Given the description of an element on the screen output the (x, y) to click on. 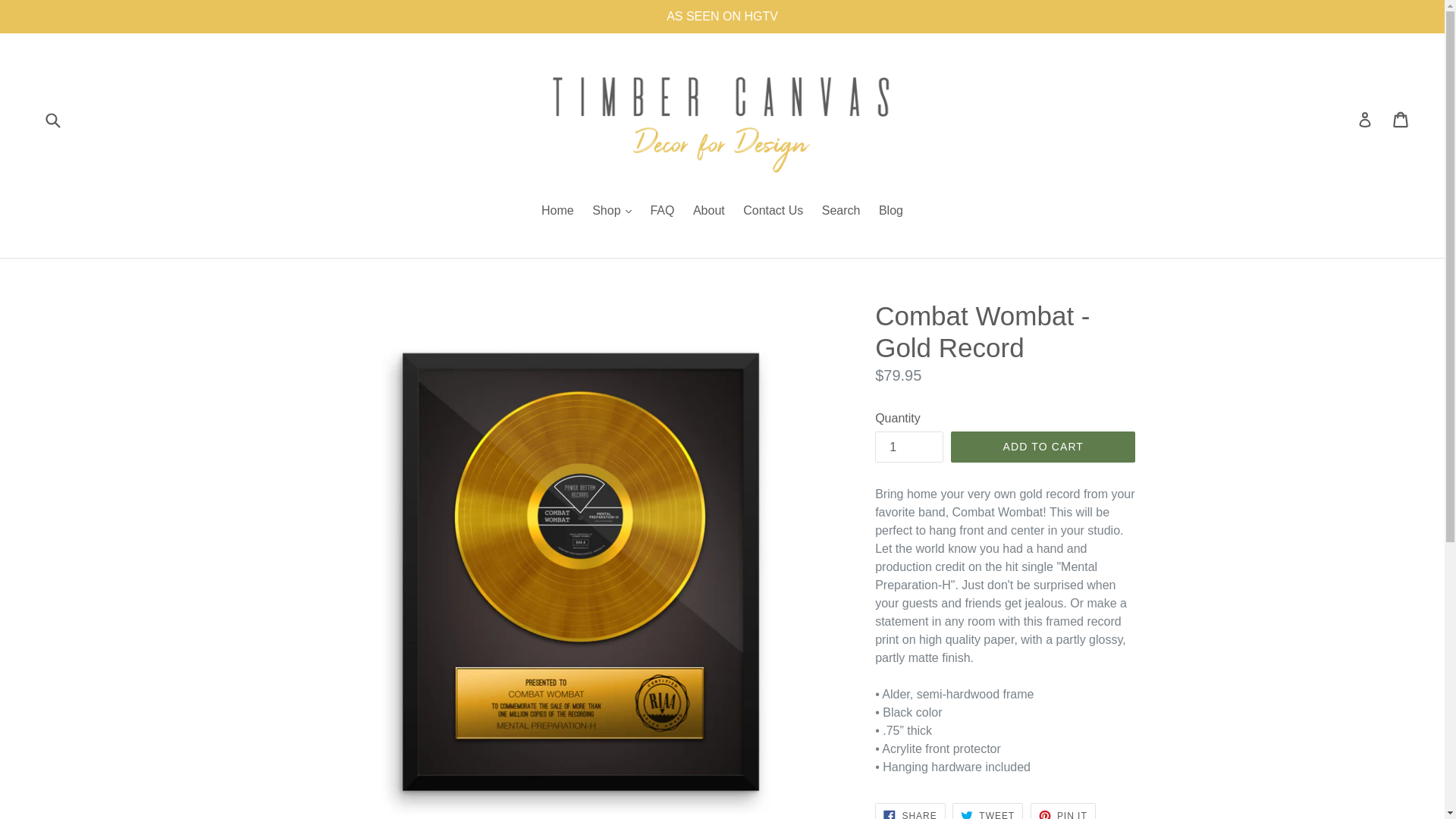
Contact Us (772, 211)
Home (557, 211)
Tweet on Twitter (987, 811)
Pin on Pinterest (1063, 811)
1 (909, 446)
Blog (987, 811)
About (890, 211)
Share on Facebook (708, 211)
FAQ (909, 811)
Search (909, 811)
ADD TO CART (661, 211)
